Given the description of an element on the screen output the (x, y) to click on. 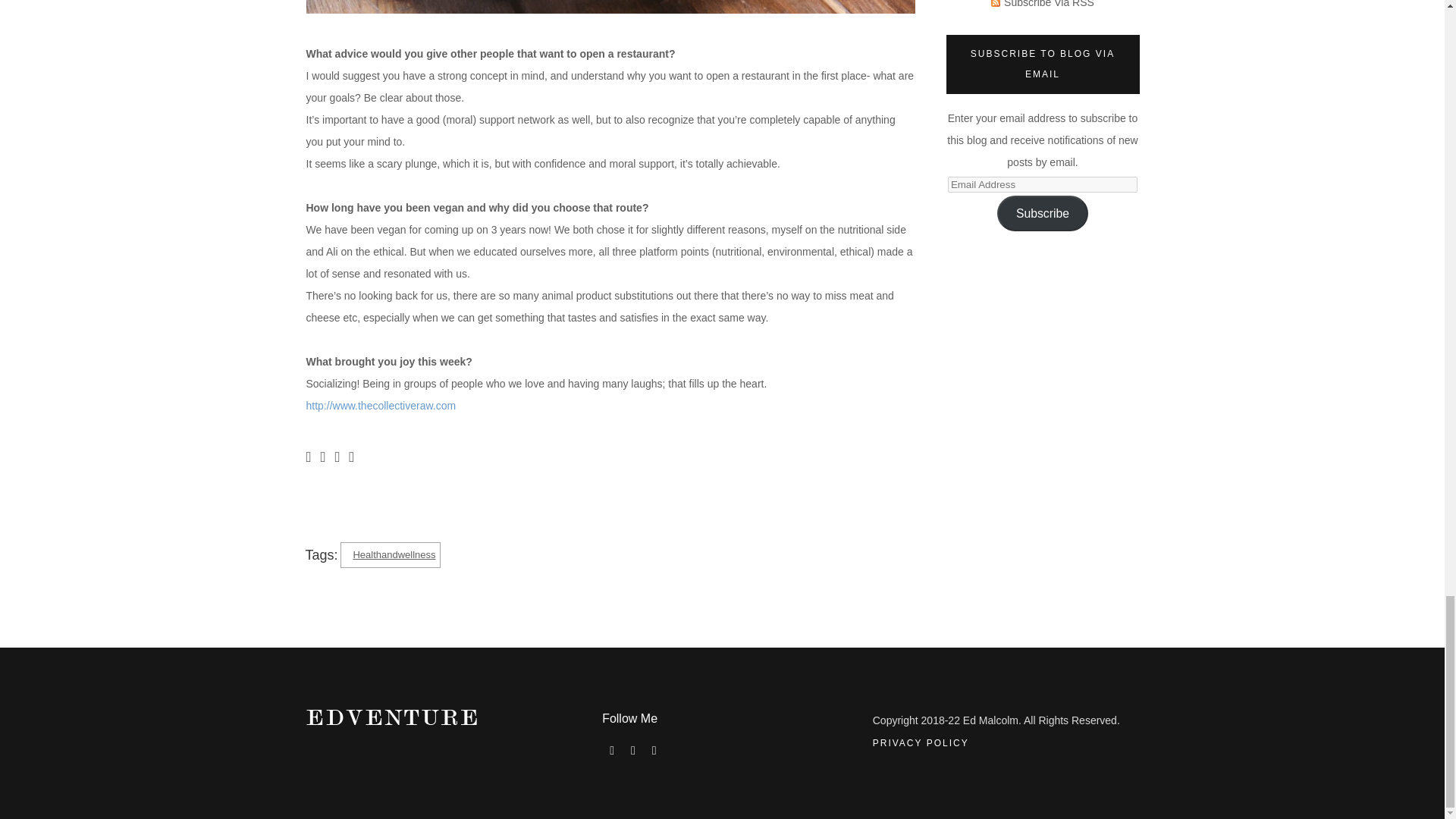
Share on Facebook (308, 455)
Share on LinkedIn (351, 455)
Share on Twitter (322, 455)
Healthandwellness (389, 554)
